Given the description of an element on the screen output the (x, y) to click on. 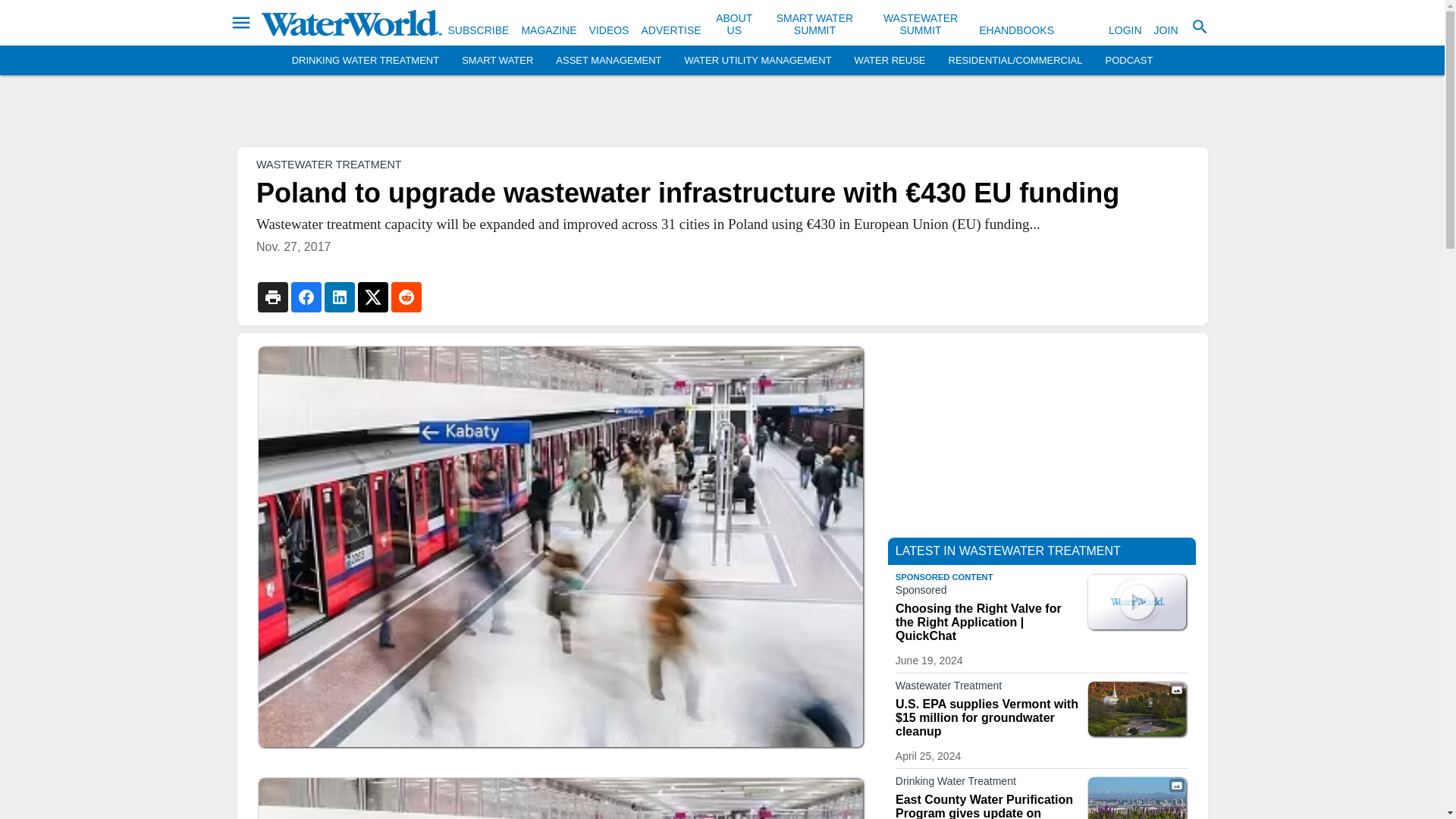
ADVERTISE (670, 30)
PODCAST (1129, 60)
LOGIN (1124, 30)
MAGAZINE (548, 30)
WATER UTILITY MANAGEMENT (757, 60)
WaterWorld: Mueller Quick Chat June 2024 (1136, 601)
ASSET MANAGEMENT (608, 60)
JOIN (1165, 30)
ABOUT US (734, 24)
SMART WATER (496, 60)
VIDEOS (608, 30)
DRINKING WATER TREATMENT (365, 60)
SUBSCRIBE (477, 30)
EHANDBOOKS (1016, 30)
